Given the description of an element on the screen output the (x, y) to click on. 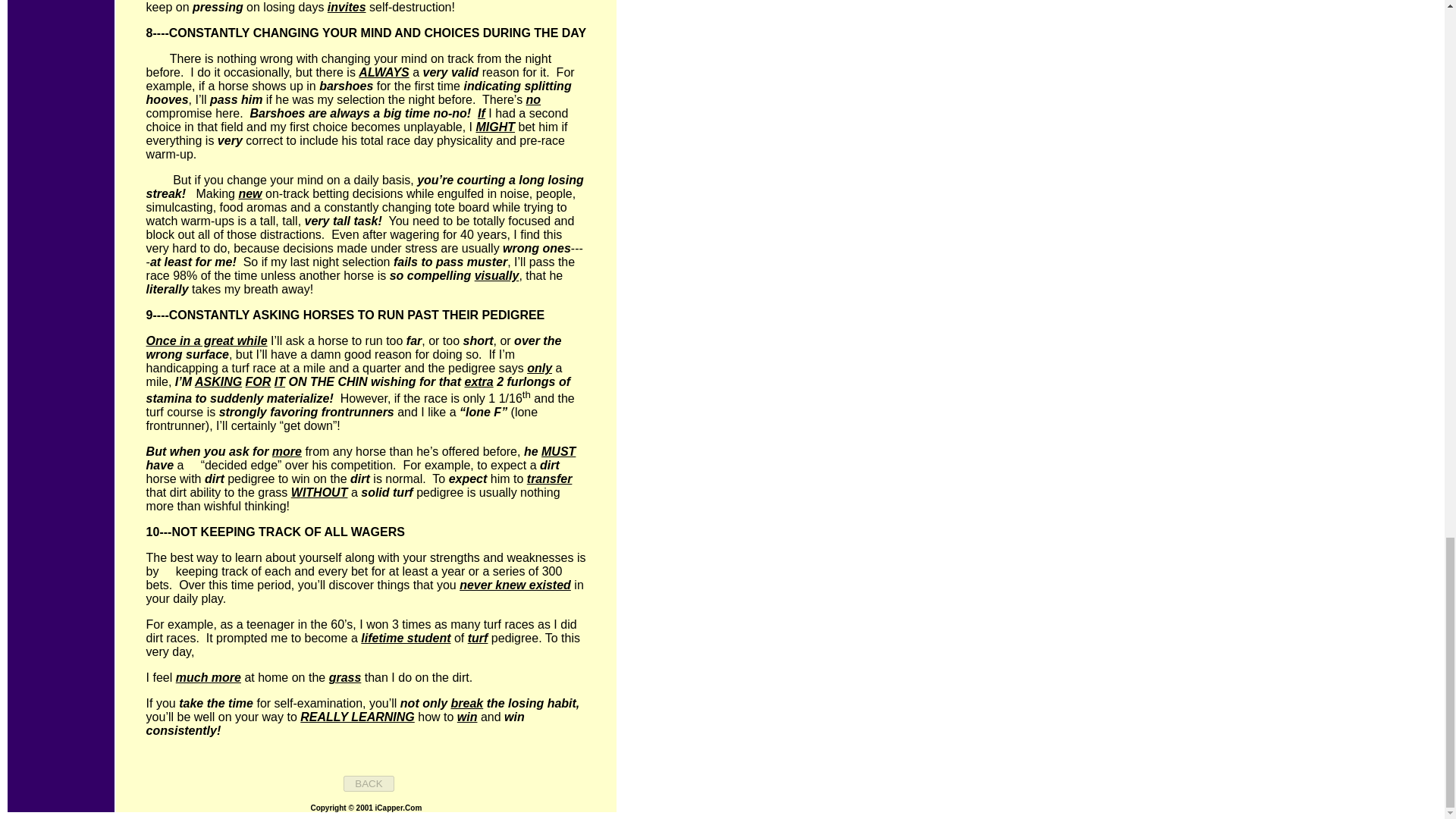
  BACK   (368, 783)
